Given the description of an element on the screen output the (x, y) to click on. 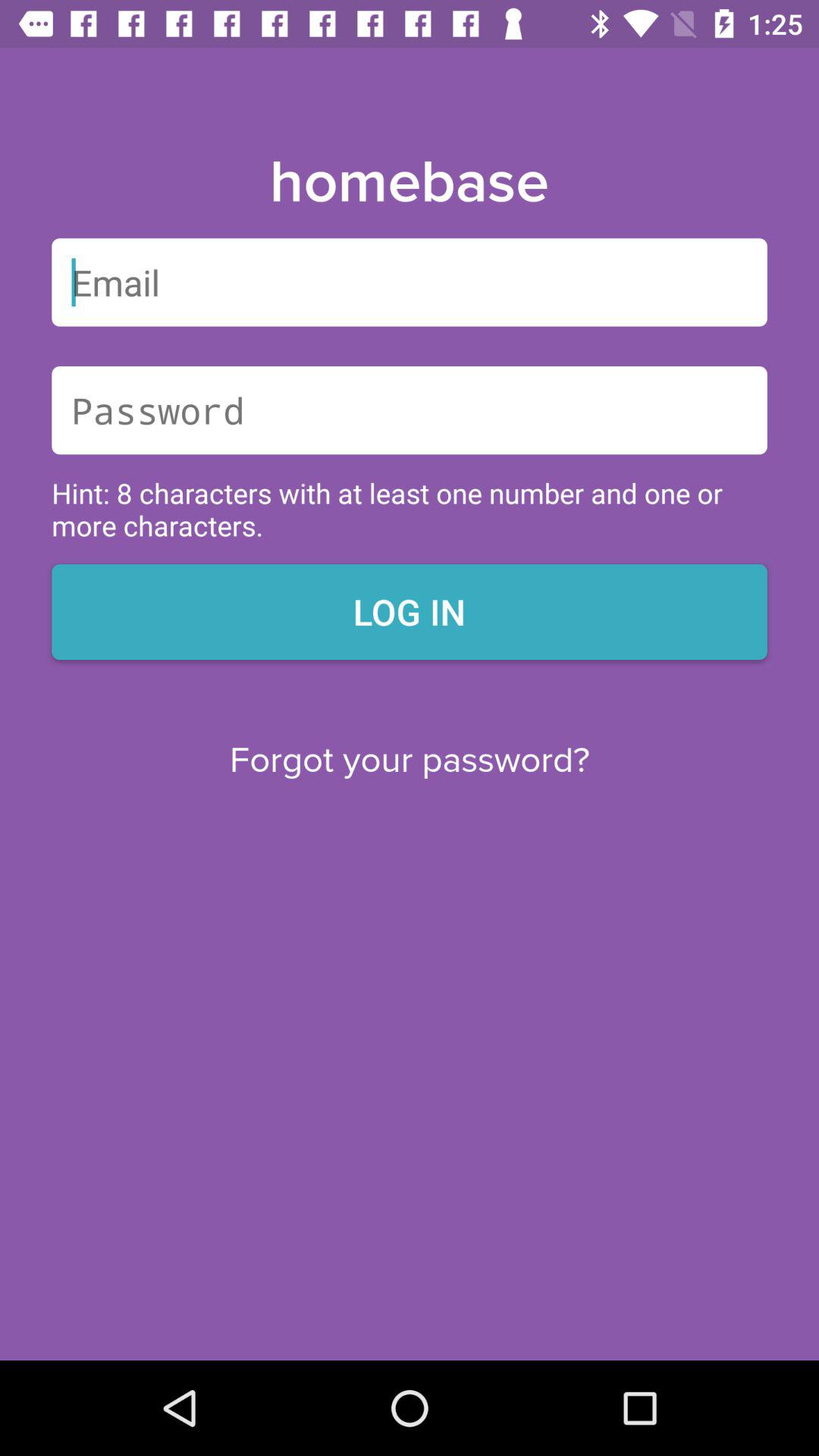
choose the item below the homebase icon (409, 282)
